Given the description of an element on the screen output the (x, y) to click on. 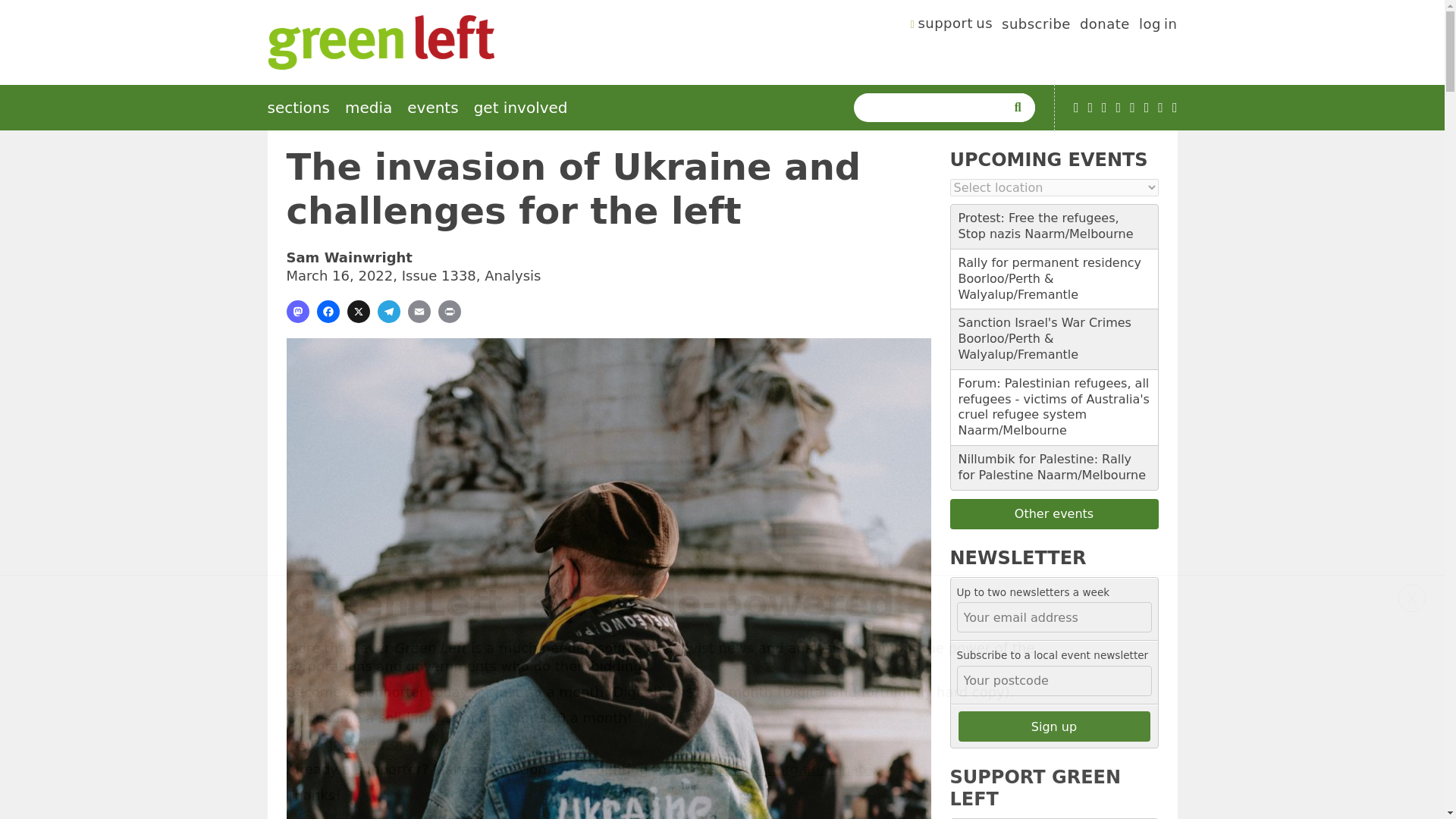
Sign up (1054, 726)
Enter the terms you wish to search for. (932, 107)
Share on Facebook (328, 311)
support us (951, 26)
subscribe (1035, 26)
Share on Mastondon (297, 311)
events (432, 107)
donate (1104, 26)
Print (449, 311)
log in (1157, 26)
